Given the description of an element on the screen output the (x, y) to click on. 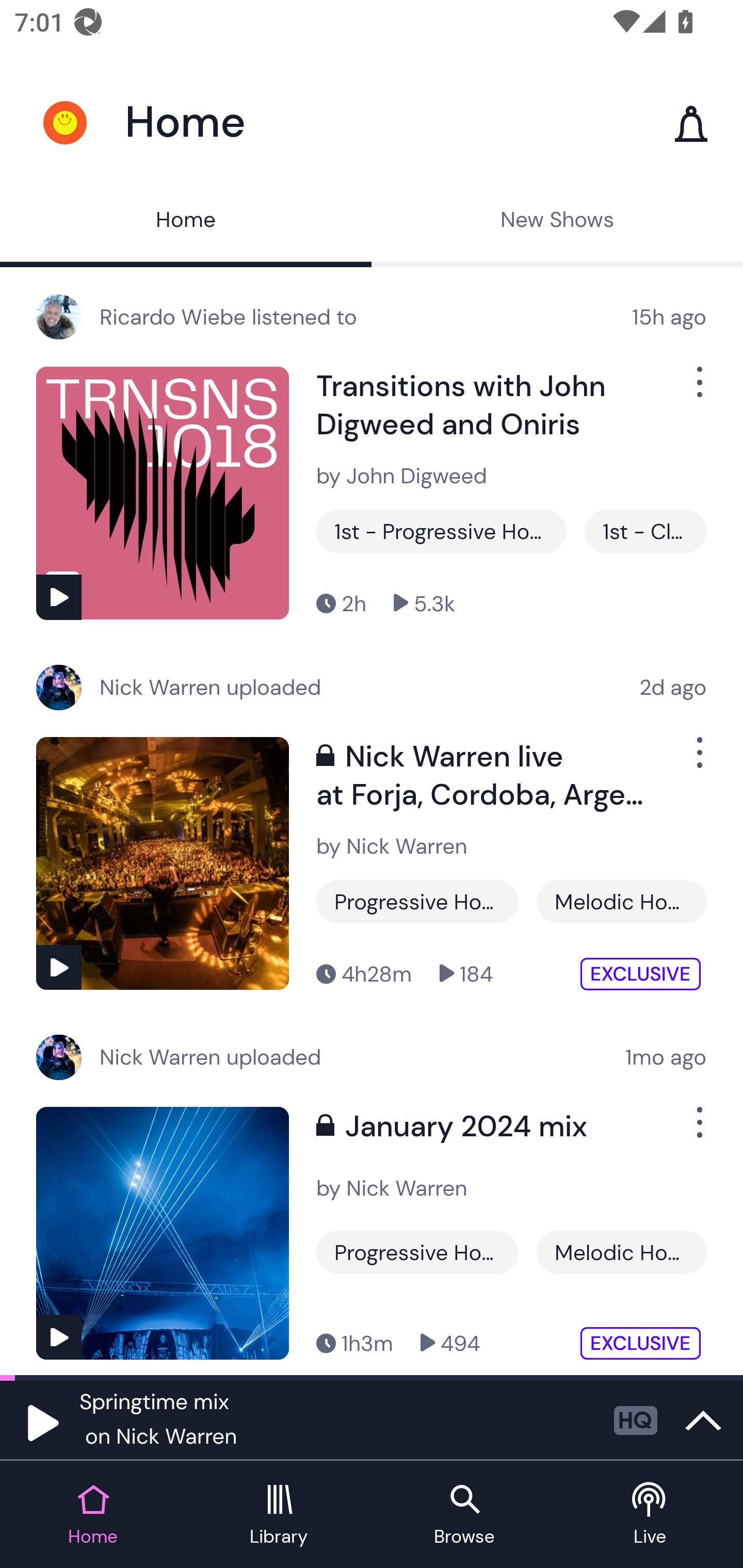
Home (185, 221)
New Shows (557, 221)
Show Options Menu Button (697, 389)
1st - Progressive House (441, 531)
1st - Club (645, 531)
Show Options Menu Button (697, 760)
Progressive House (417, 901)
Melodic House (621, 901)
Show Options Menu Button (697, 1130)
Progressive House (417, 1251)
Melodic House (621, 1251)
Home tab Home (92, 1515)
Library tab Library (278, 1515)
Browse tab Browse (464, 1515)
Live tab Live (650, 1515)
